Given the description of an element on the screen output the (x, y) to click on. 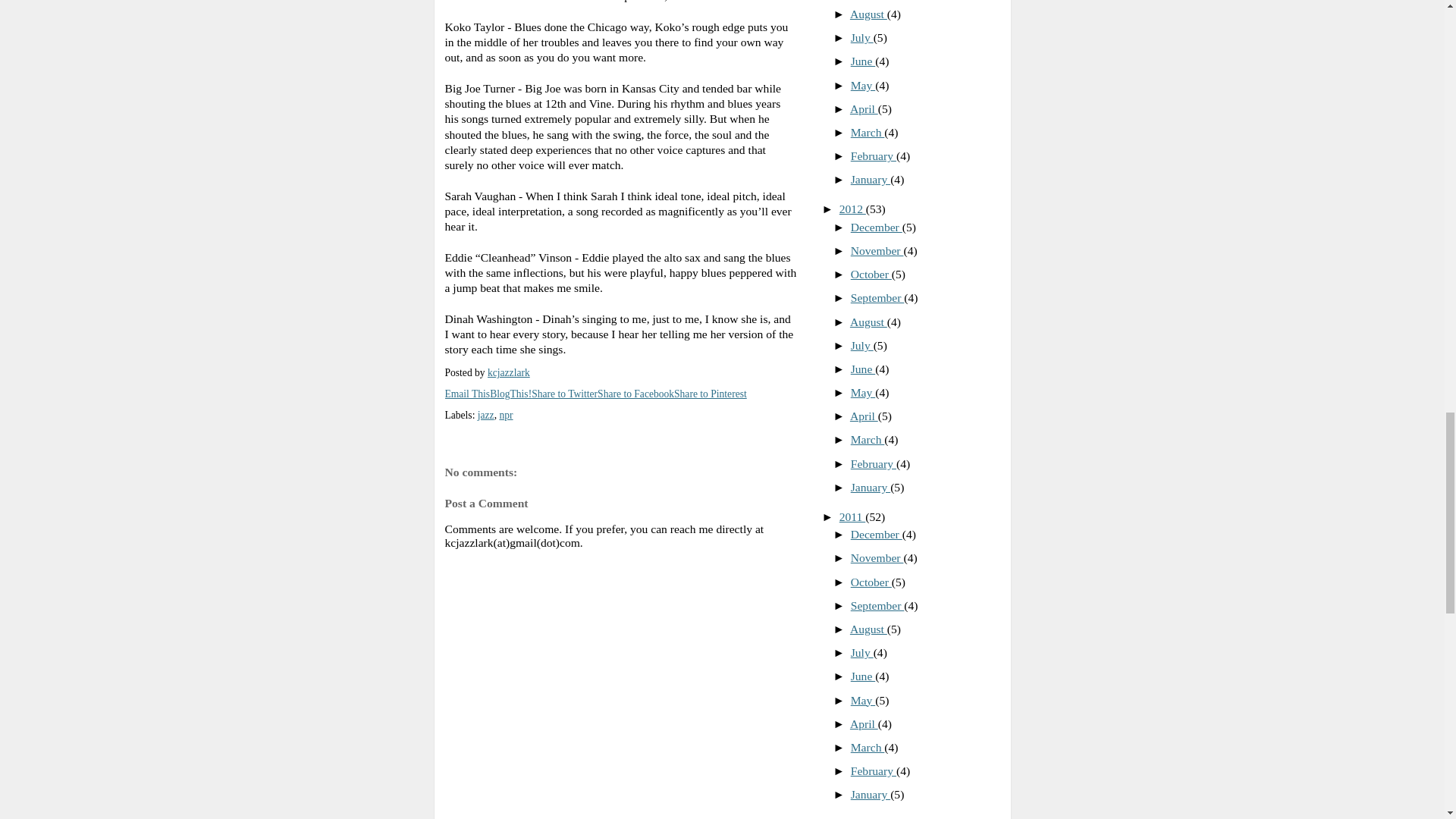
Share to Pinterest (710, 393)
jazz (486, 414)
Share to Facebook (635, 393)
Email This (466, 393)
kcjazzlark (508, 372)
Share to Twitter (563, 393)
Email This (466, 393)
npr (505, 414)
Share to Facebook (635, 393)
Share to Twitter (563, 393)
Share to Pinterest (710, 393)
BlogThis! (510, 393)
author profile (508, 372)
BlogThis! (510, 393)
